Given the description of an element on the screen output the (x, y) to click on. 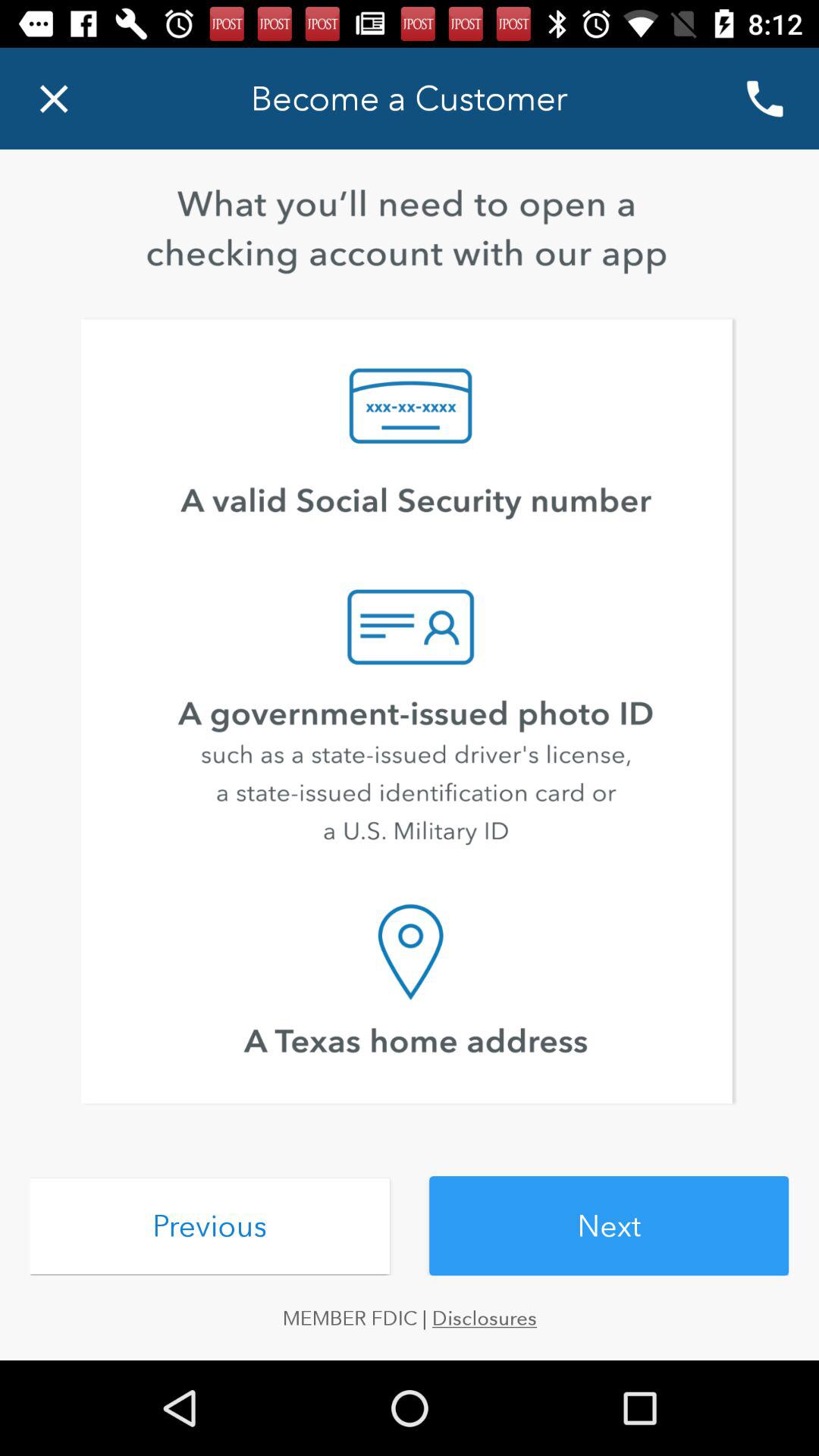
tap previous item (209, 1226)
